Given the description of an element on the screen output the (x, y) to click on. 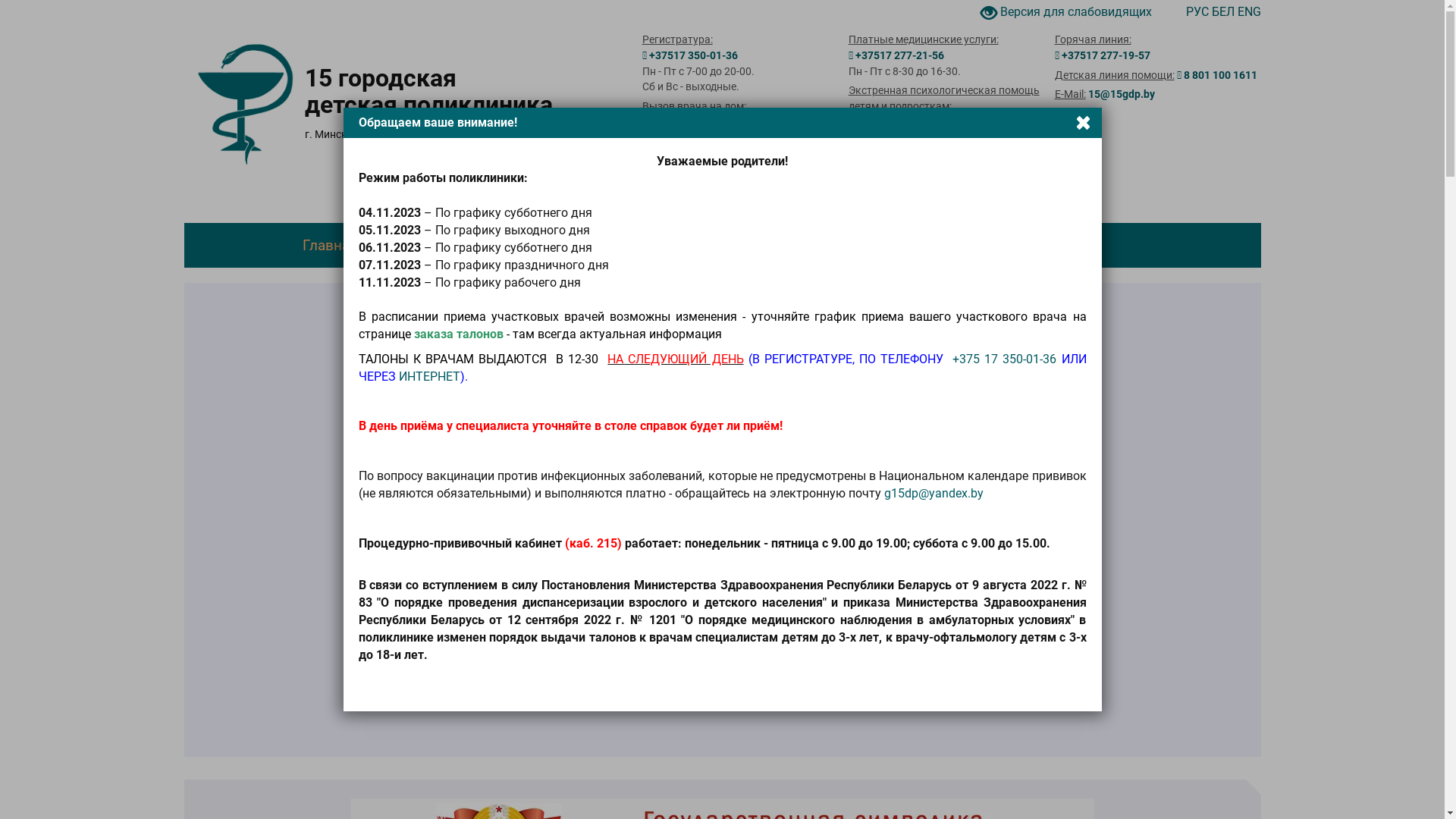
15@15gdp.by Element type: text (1121, 93)
ENG Element type: text (1249, 11)
+375 17 350-01-36 Element type: text (1004, 358)
g15dp@yandex.by Element type: text (933, 493)
